Given the description of an element on the screen output the (x, y) to click on. 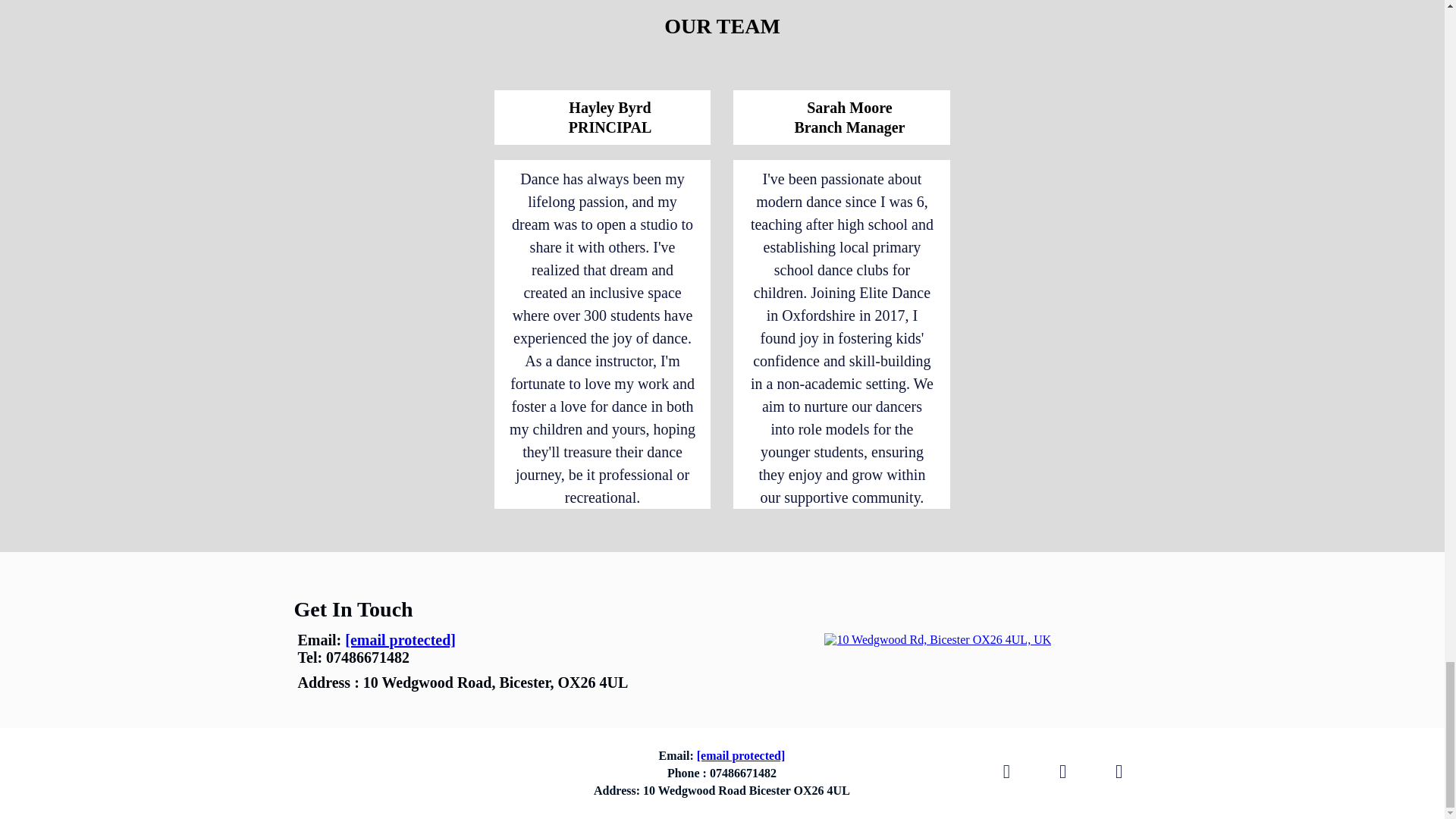
Address: 10 Wedgwood Road Bicester OX26 4UL (721, 790)
Tel: 07486671482 (353, 657)
Address : 10 Wedgwood Road, Bicester, OX26 4UL (462, 682)
Phone : 07486671482 (721, 773)
